Given the description of an element on the screen output the (x, y) to click on. 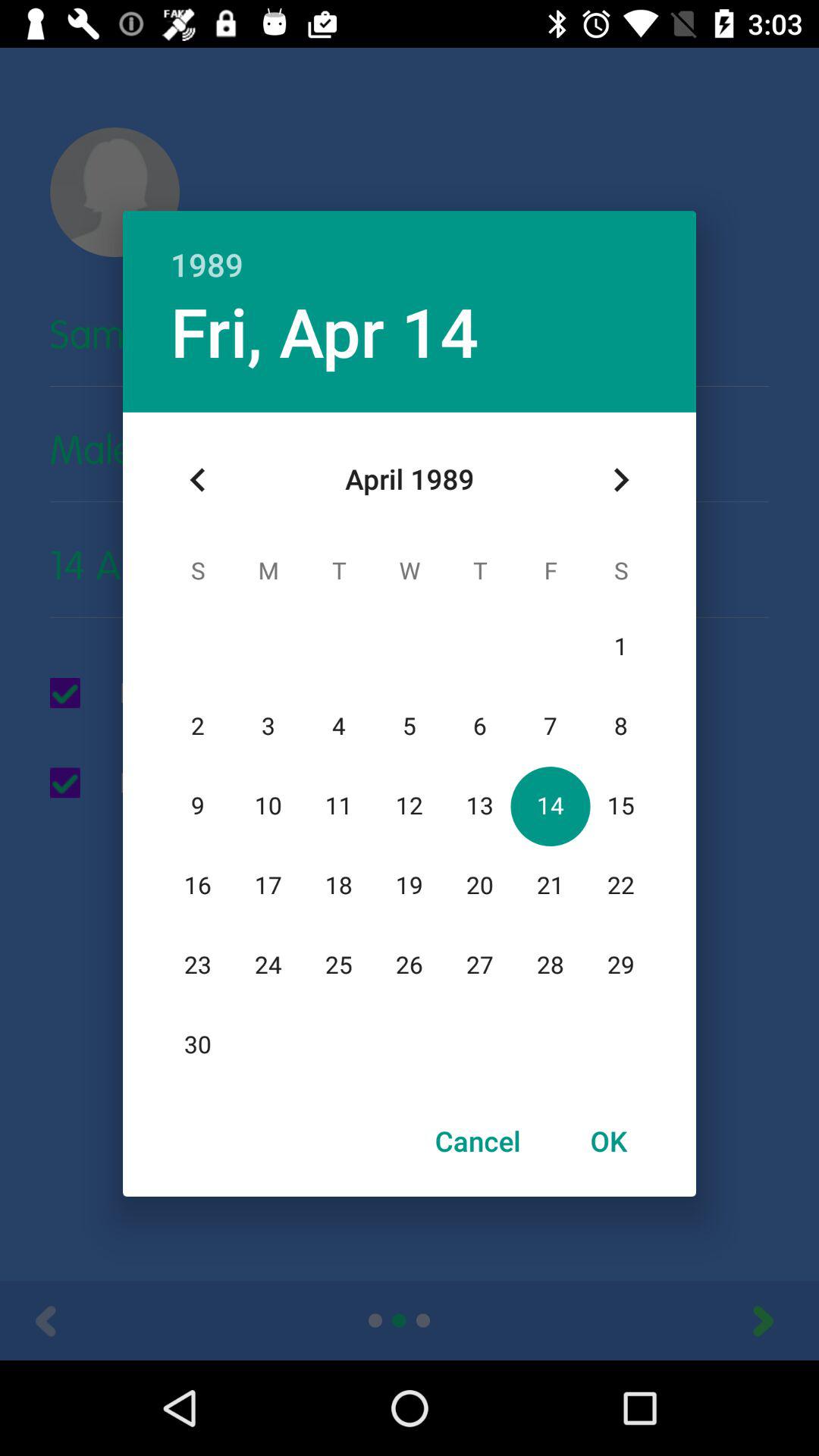
click the icon at the top right corner (620, 479)
